Given the description of an element on the screen output the (x, y) to click on. 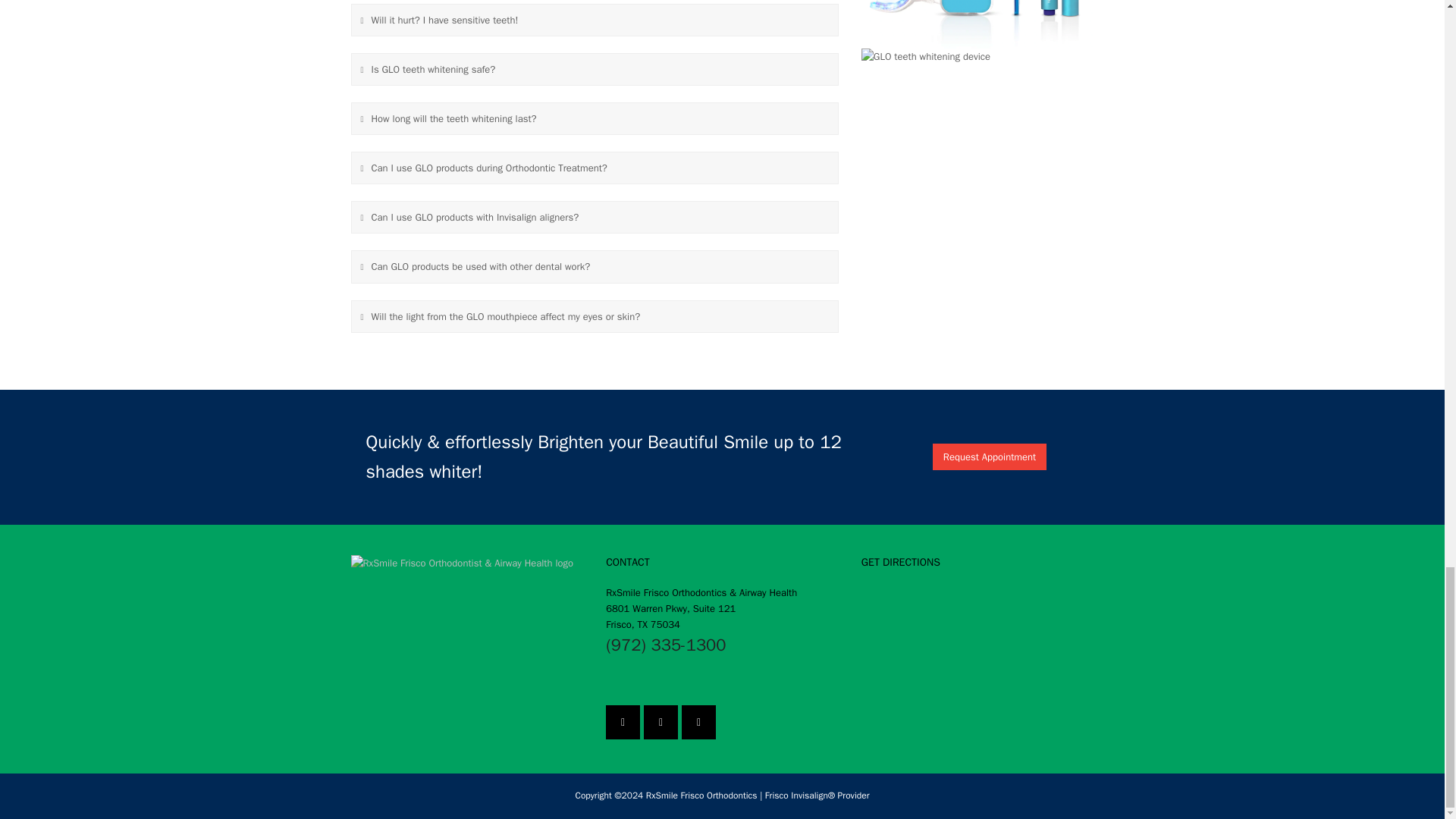
Instagram (660, 722)
Instagram (660, 722)
Google Map (977, 641)
Request Appointment (989, 456)
Facebook (622, 722)
YouTube (698, 722)
Facebook (622, 722)
Request Appointment (989, 456)
GLO-teeth-whitening-at-home2 (925, 56)
YouTube (698, 722)
GLO-teeth-whitening-at-home-kit (977, 23)
